Given the description of an element on the screen output the (x, y) to click on. 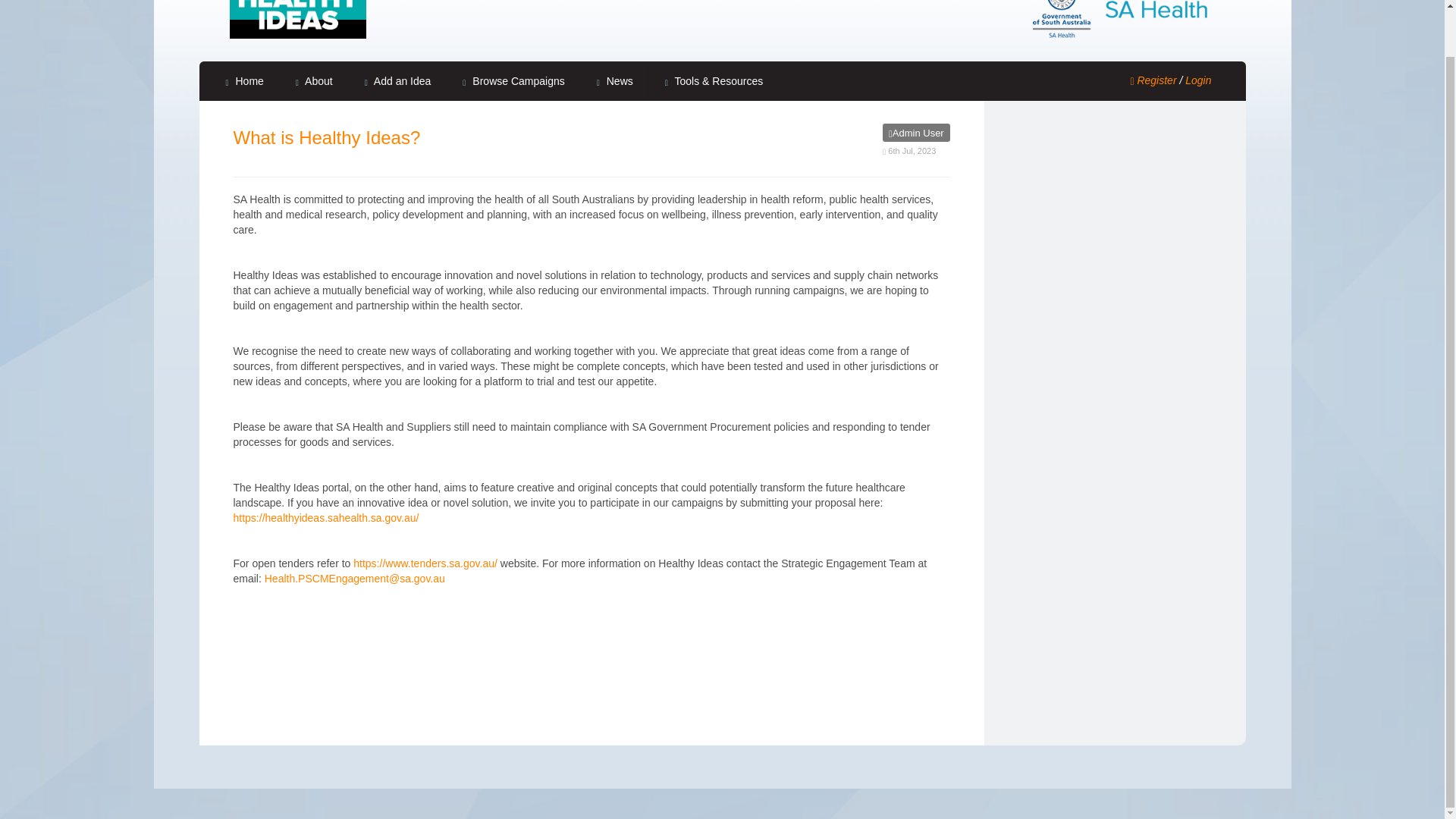
Register (1152, 80)
Browse Campaigns (512, 80)
News (614, 80)
Login (1198, 80)
Add an Idea (397, 80)
About (314, 80)
